Given the description of an element on the screen output the (x, y) to click on. 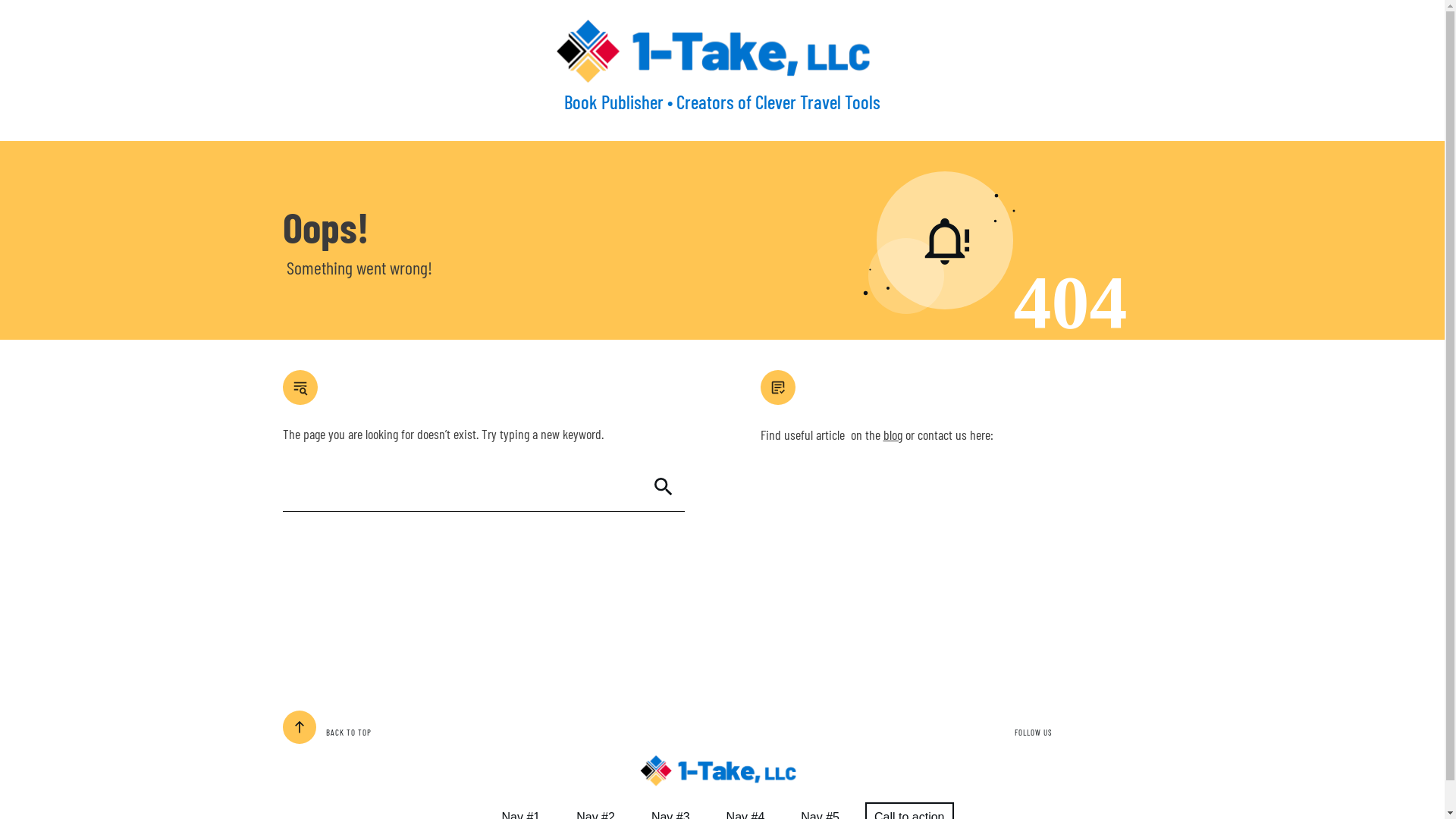
blog Element type: text (891, 434)
